Given the description of an element on the screen output the (x, y) to click on. 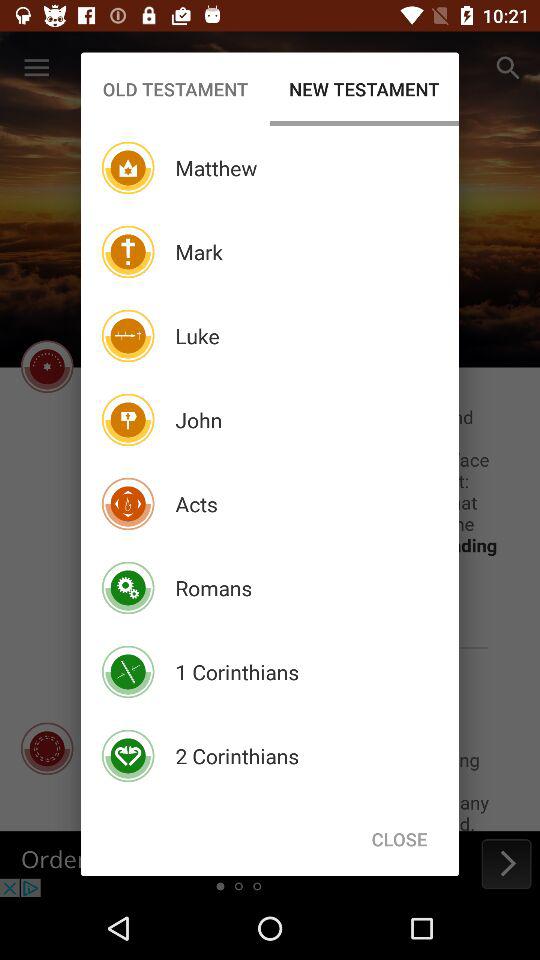
open john (198, 419)
